Given the description of an element on the screen output the (x, y) to click on. 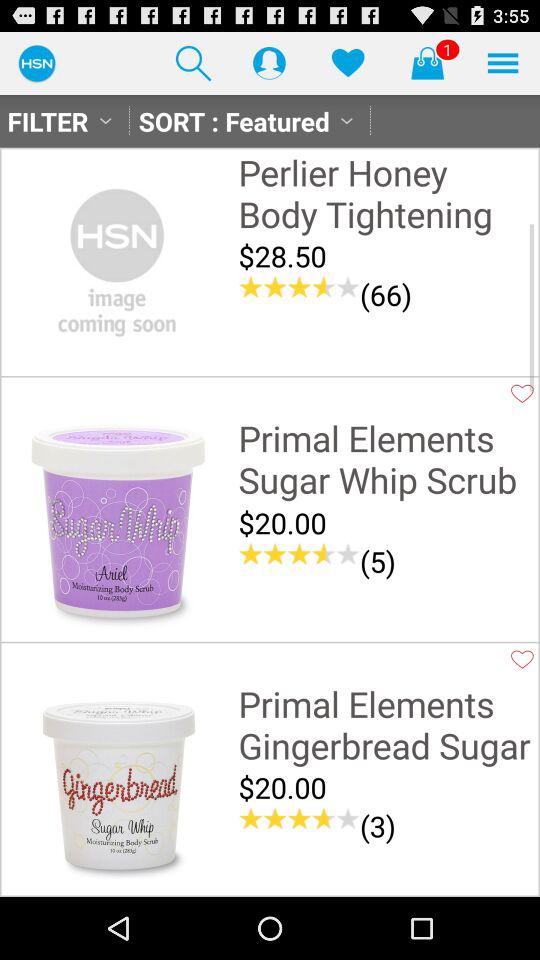
shopping bag (427, 62)
